Given the description of an element on the screen output the (x, y) to click on. 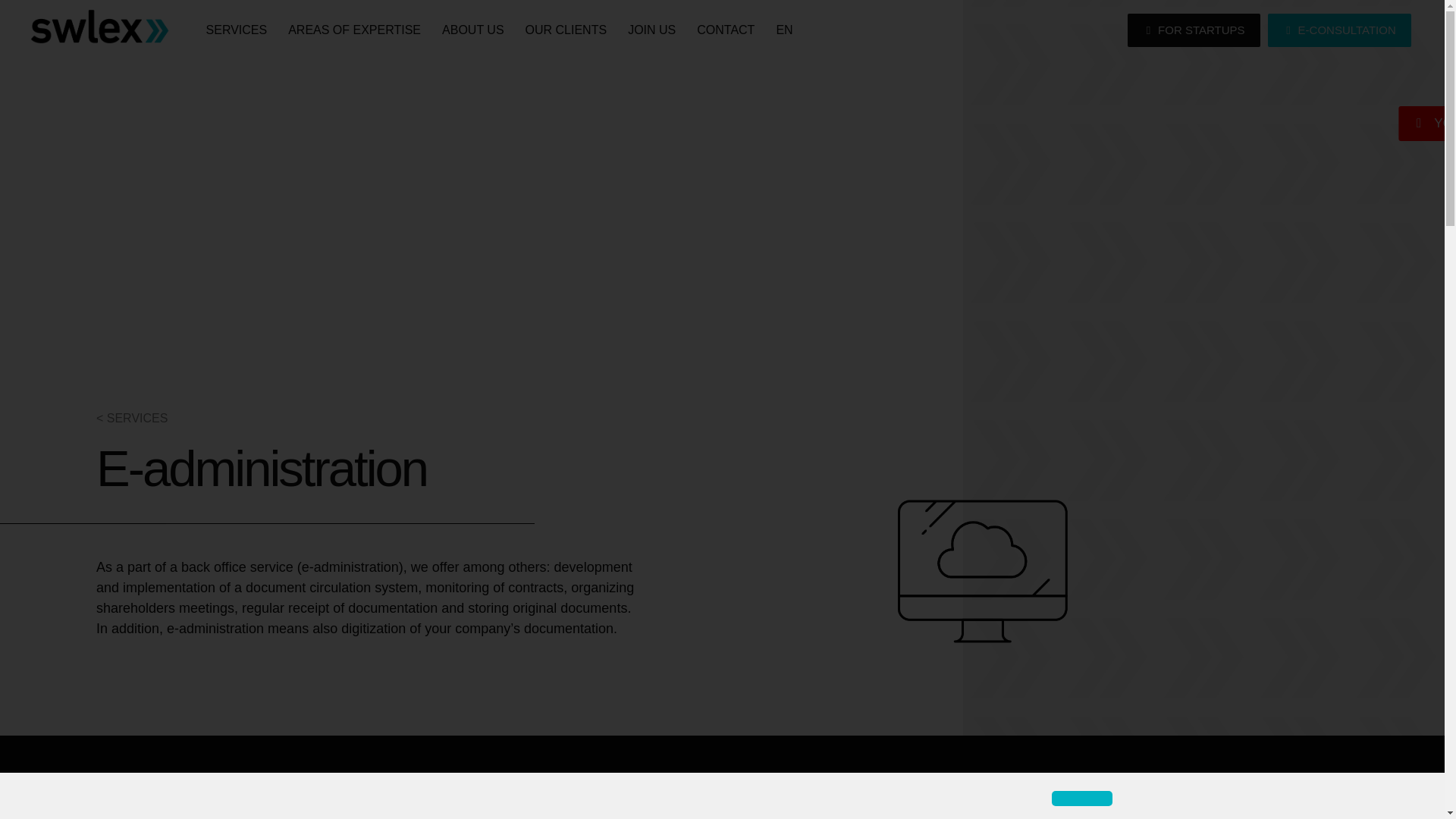
SERVICES (236, 29)
E-CONSULTATION (1339, 29)
FOR STARTUPS (1192, 29)
ABOUT US (472, 29)
JOIN US (651, 29)
AREAS OF EXPERTISE (354, 29)
CONTACT (725, 29)
OUR CLIENTS (566, 29)
EN (784, 29)
